Given the description of an element on the screen output the (x, y) to click on. 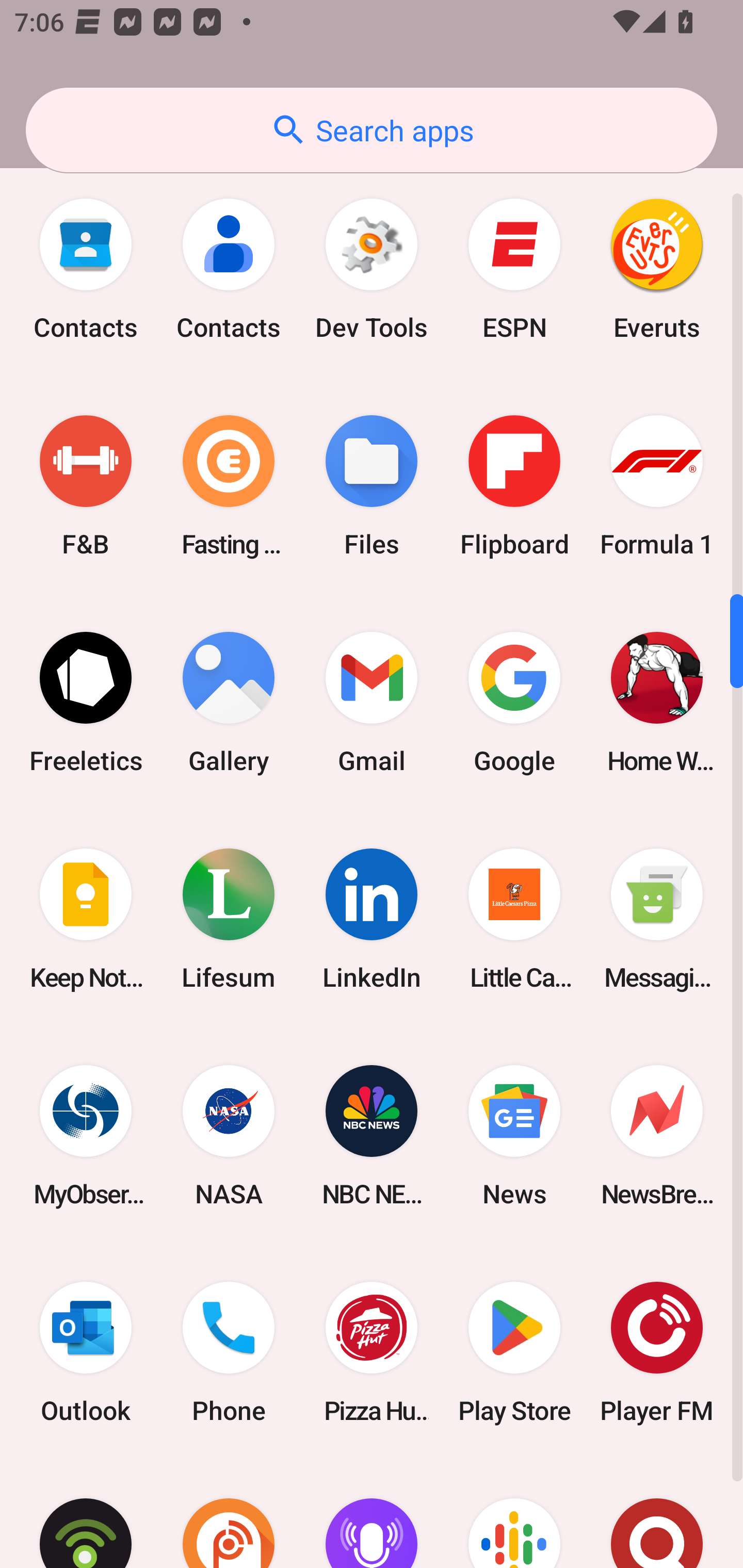
  Search apps (371, 130)
Contacts (85, 269)
Contacts (228, 269)
Dev Tools (371, 269)
ESPN (514, 269)
Everuts (656, 269)
F&B (85, 485)
Fasting Coach (228, 485)
Files (371, 485)
Flipboard (514, 485)
Formula 1 (656, 485)
Freeletics (85, 702)
Gallery (228, 702)
Gmail (371, 702)
Google (514, 702)
Home Workout (656, 702)
Keep Notes (85, 918)
Lifesum (228, 918)
LinkedIn (371, 918)
Little Caesars Pizza (514, 918)
Messaging (656, 918)
MyObservatory (85, 1135)
NASA (228, 1135)
NBC NEWS (371, 1135)
News (514, 1135)
NewsBreak (656, 1135)
Outlook (85, 1352)
Phone (228, 1352)
Pizza Hut HK & Macau (371, 1352)
Play Store (514, 1352)
Player FM (656, 1352)
Quora (656, 1514)
